Given the description of an element on the screen output the (x, y) to click on. 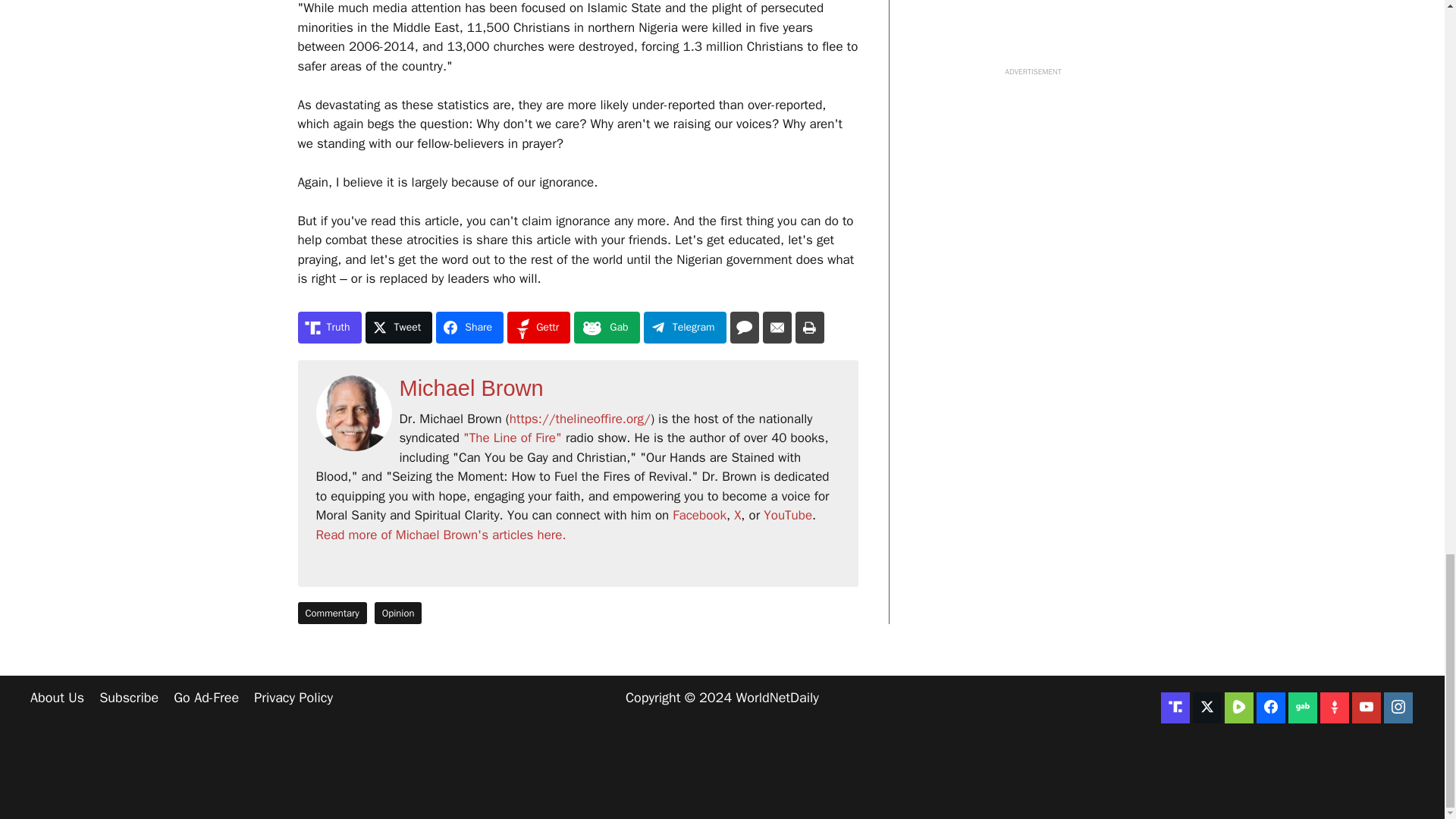
Share on Share (469, 327)
Share on Truth (329, 327)
Share on Gettr (538, 327)
Share on Tweet (398, 327)
